Given the description of an element on the screen output the (x, y) to click on. 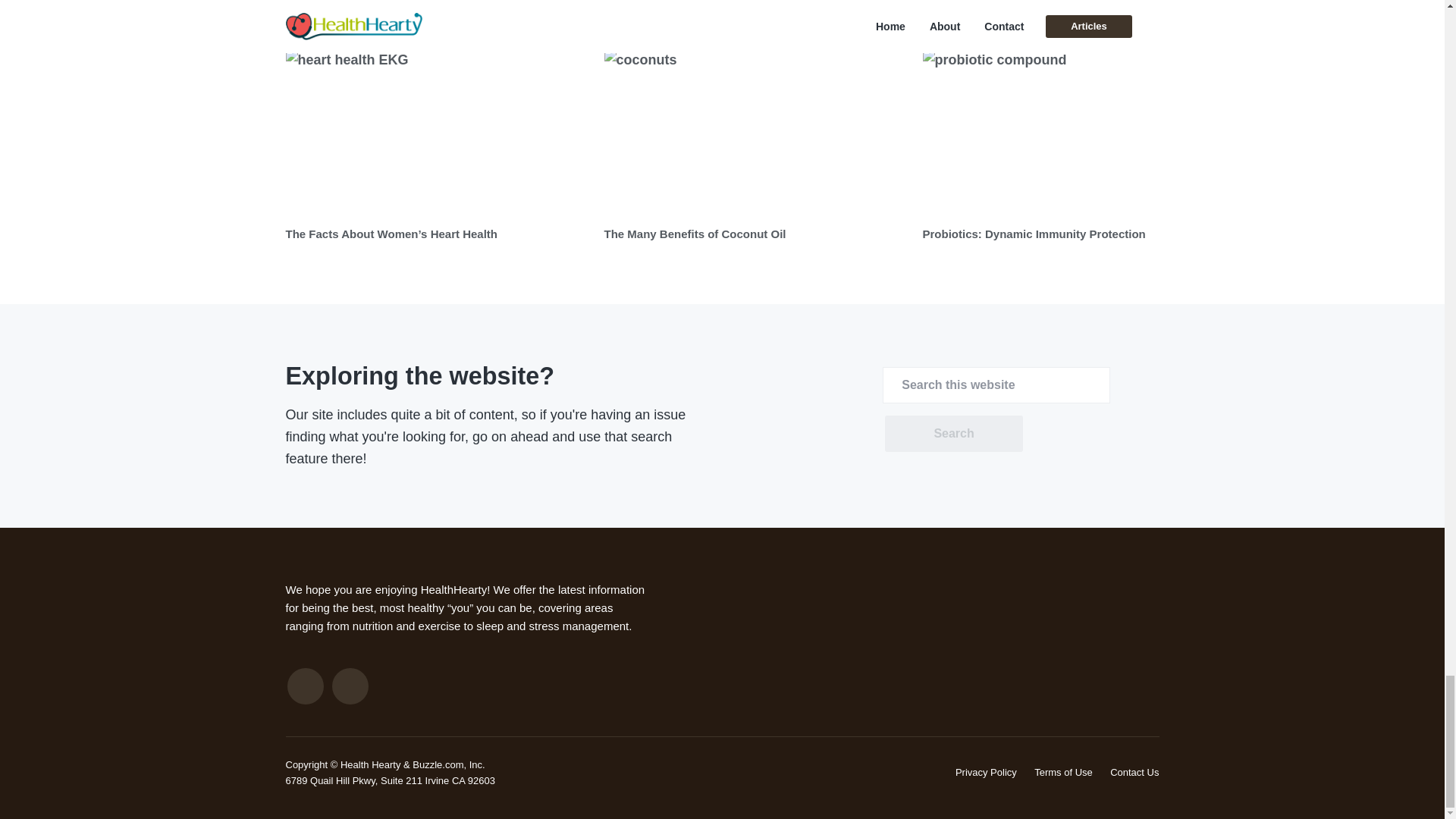
Permanent Link (436, 133)
Permanent Link (695, 233)
Search (953, 433)
Permanent Link (391, 233)
Probiotics: Dynamic Immunity Protection (1032, 233)
Permanent Link (1073, 133)
Search (953, 433)
Contact Us (1133, 772)
Search (953, 433)
Permanent Link (1032, 233)
The Many Benefits of Coconut Oil (695, 233)
Permanent Link (755, 133)
Terms of Use (1063, 772)
Privacy Policy (985, 772)
